Given the description of an element on the screen output the (x, y) to click on. 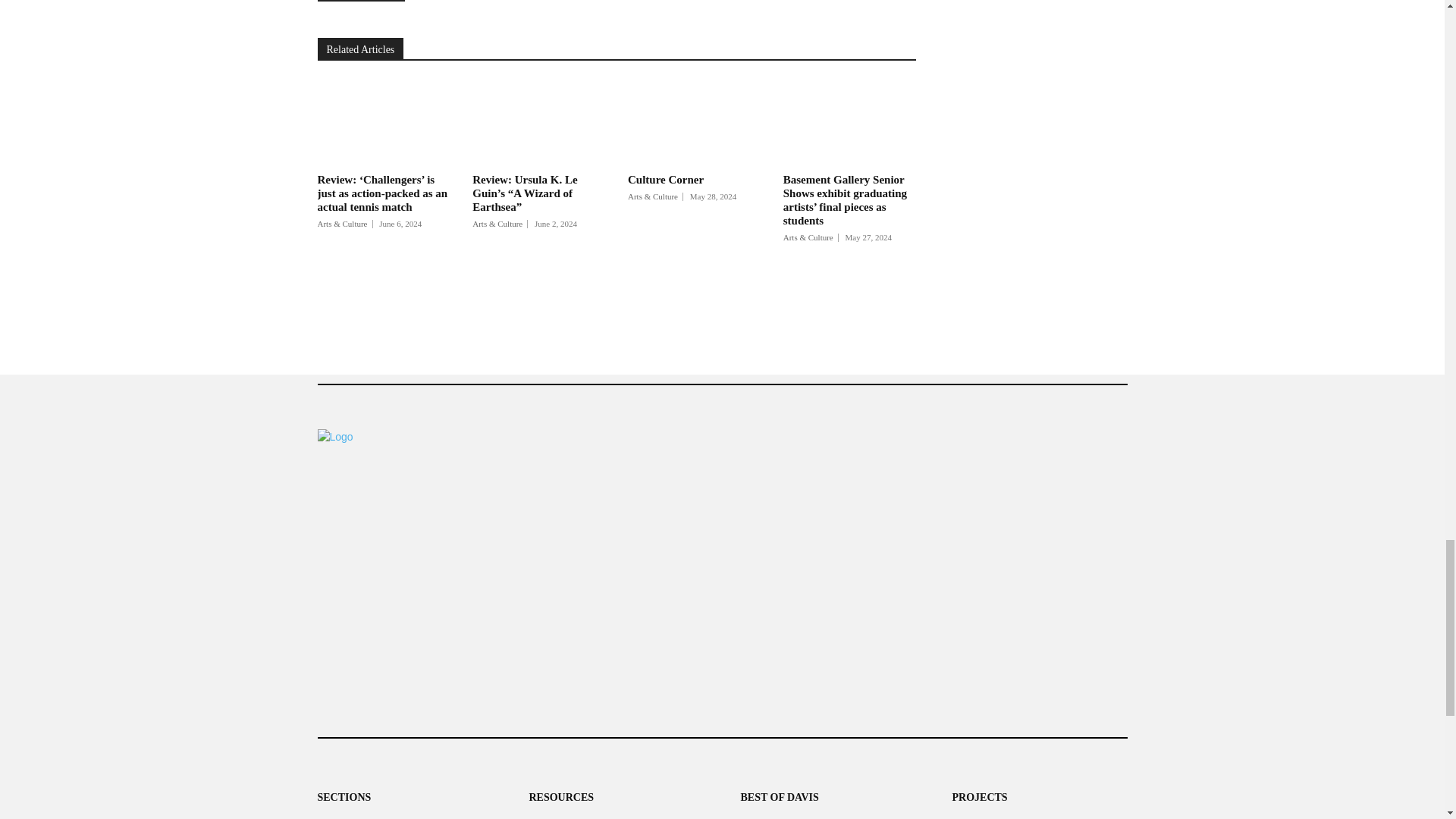
Post Comment (360, 0)
